Given the description of an element on the screen output the (x, y) to click on. 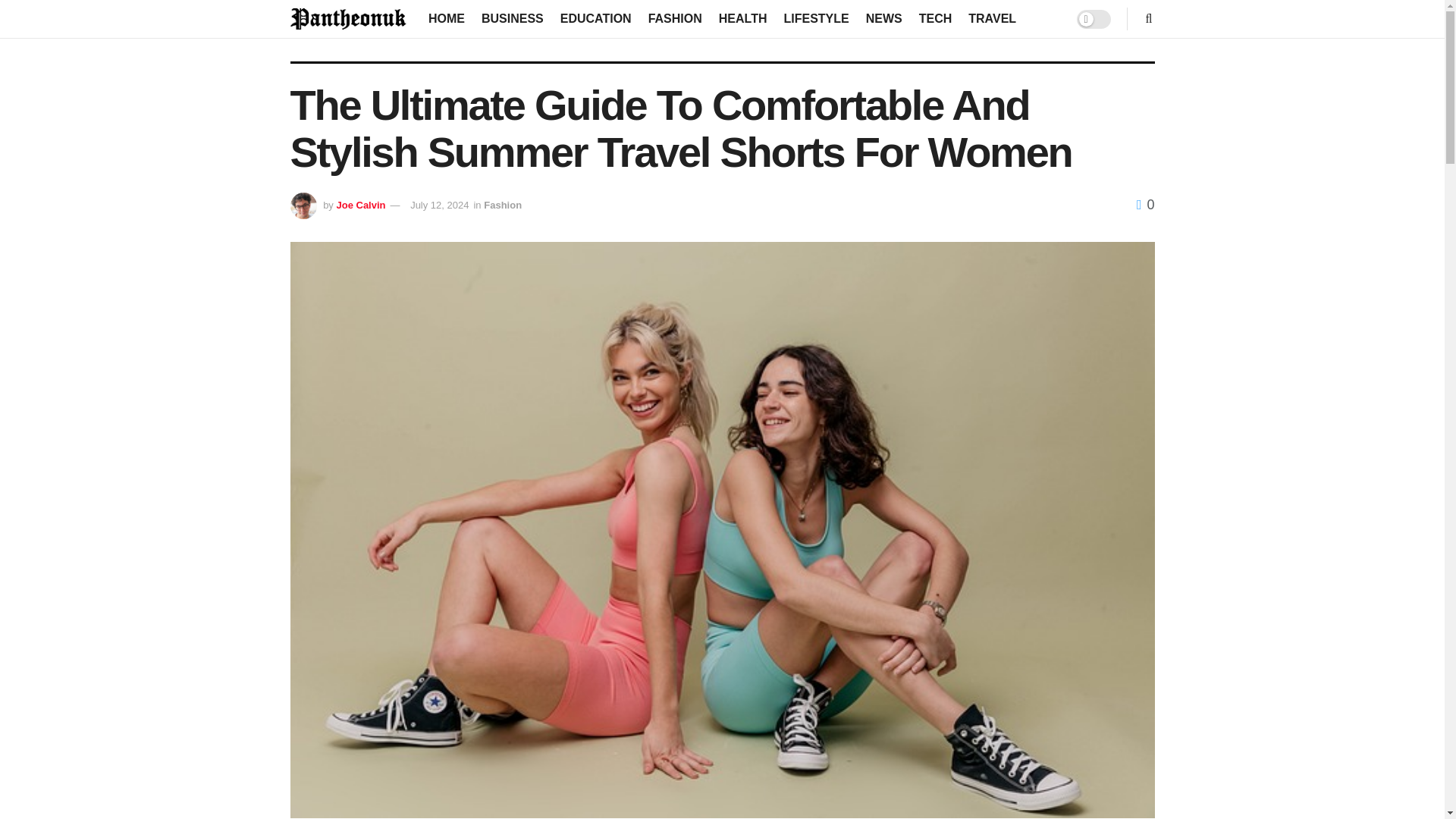
EDUCATION (595, 18)
TECH (935, 18)
0 (1145, 204)
HEALTH (743, 18)
LIFESTYLE (815, 18)
TRAVEL (992, 18)
Fashion (502, 204)
FASHION (674, 18)
Joe Calvin (360, 204)
July 12, 2024 (439, 204)
